Given the description of an element on the screen output the (x, y) to click on. 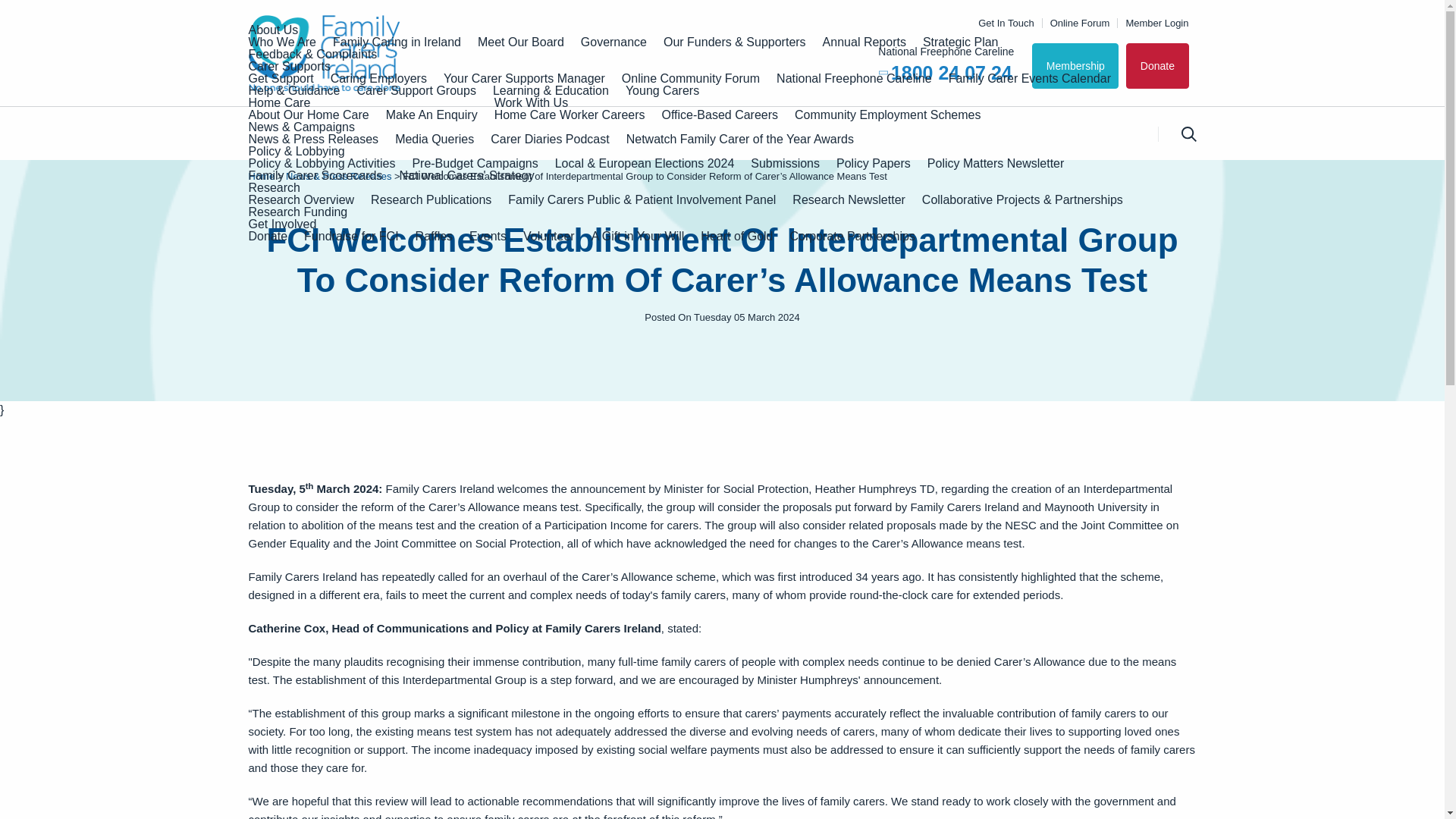
Online Forum (1075, 22)
1800 24 07 24 (951, 72)
Member Login (1153, 22)
Get In Touch (1002, 22)
